Given the description of an element on the screen output the (x, y) to click on. 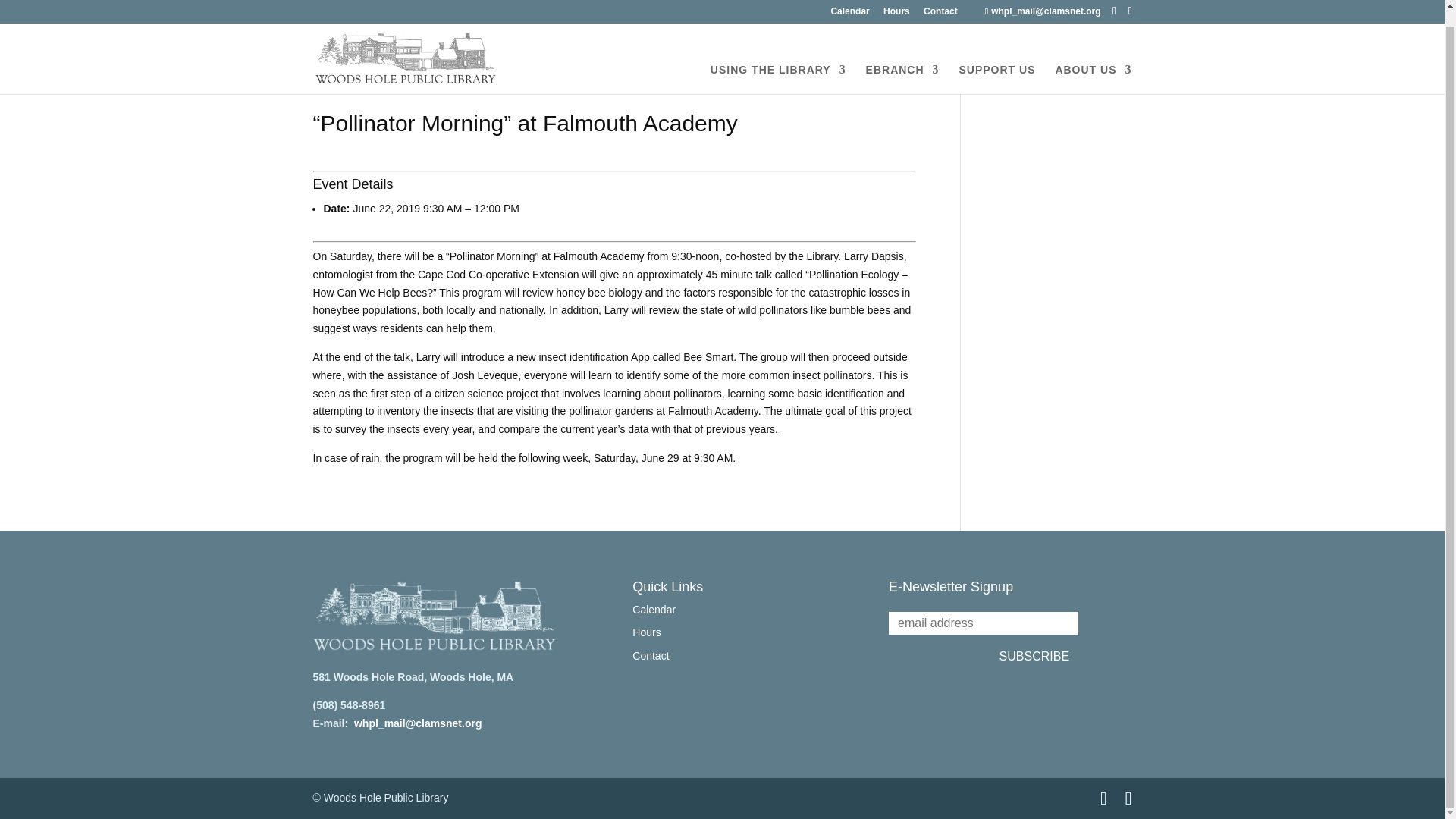
SUPPORT US (996, 62)
Hours (896, 3)
ABOUT US (1092, 62)
Subscribe (1034, 656)
USING THE LIBRARY (777, 62)
Calendar (849, 3)
EBRANCH (902, 62)
Contact (940, 3)
